Given the description of an element on the screen output the (x, y) to click on. 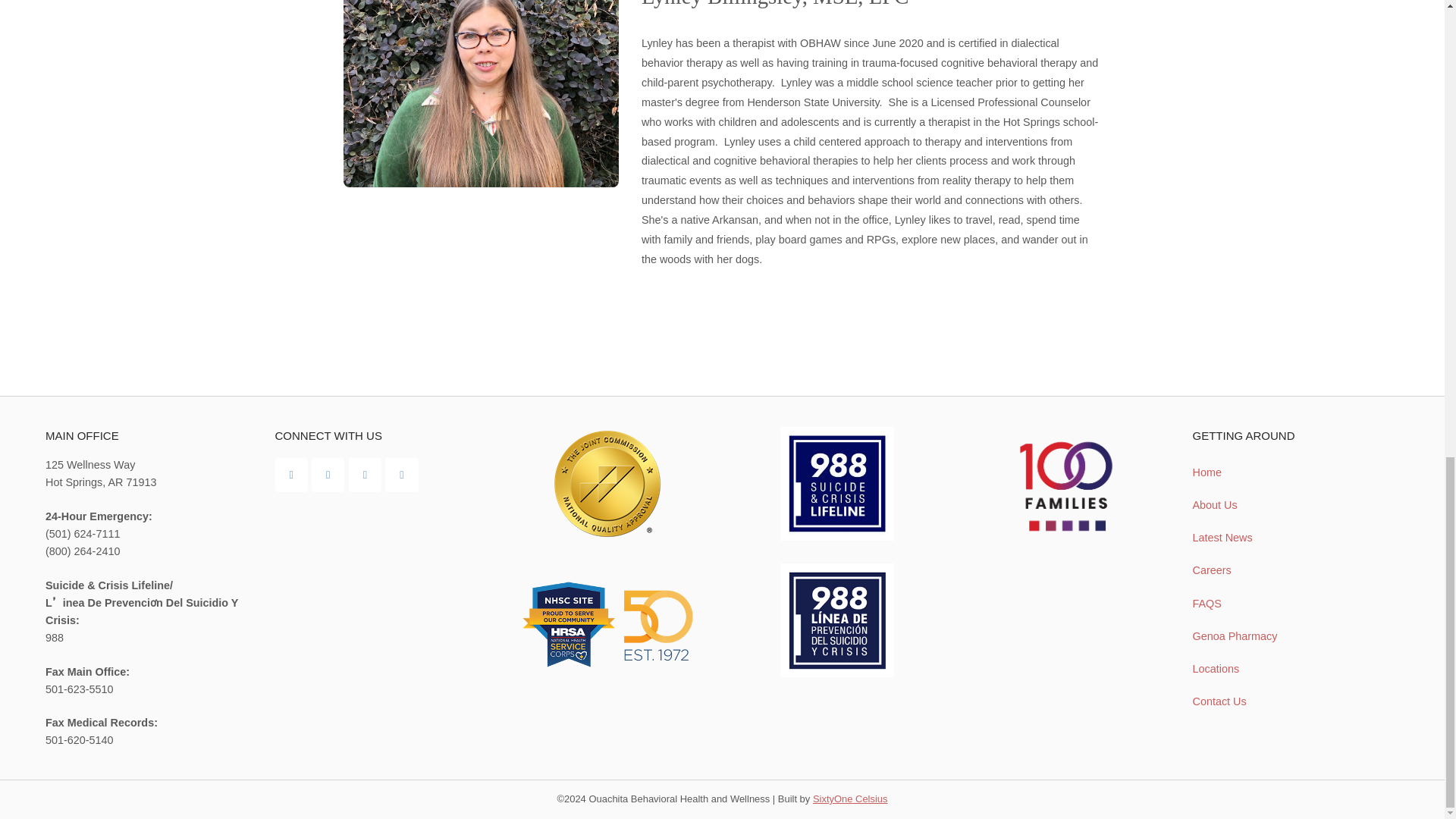
Ouachita Behavioral Health and Wellness on Instagram (365, 474)
100 Families Logo Color image (1065, 486)
Ouachita Behavioral Health and Wellness on Youtube (327, 474)
Ouachita Behavioral Health and Wellness on X Twitter (401, 474)
Ouachita Behavioral Health and Wellness on Facebook (291, 474)
